Given the description of an element on the screen output the (x, y) to click on. 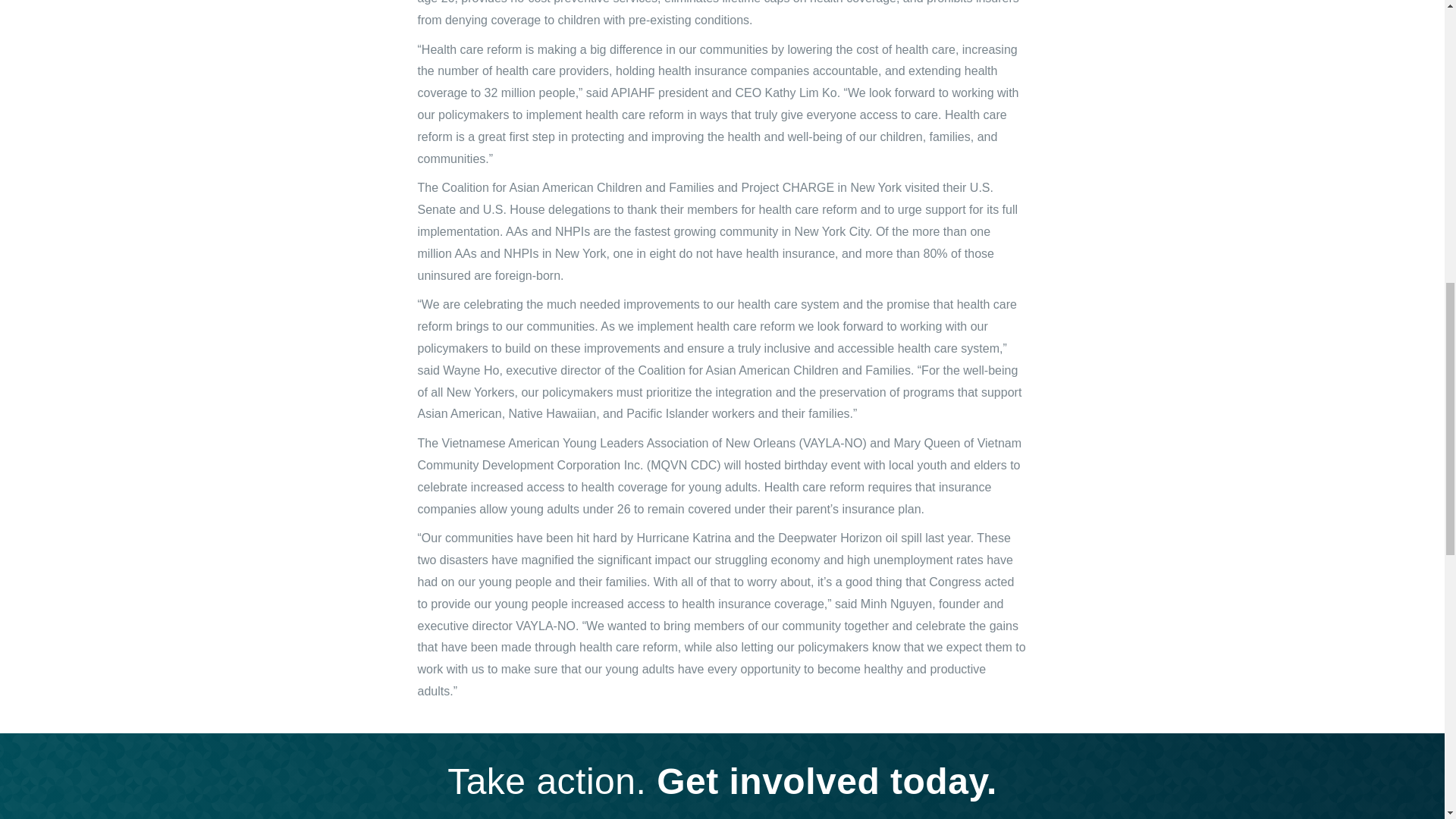
Coalition for Asian American Children and Families (578, 187)
